Given the description of an element on the screen output the (x, y) to click on. 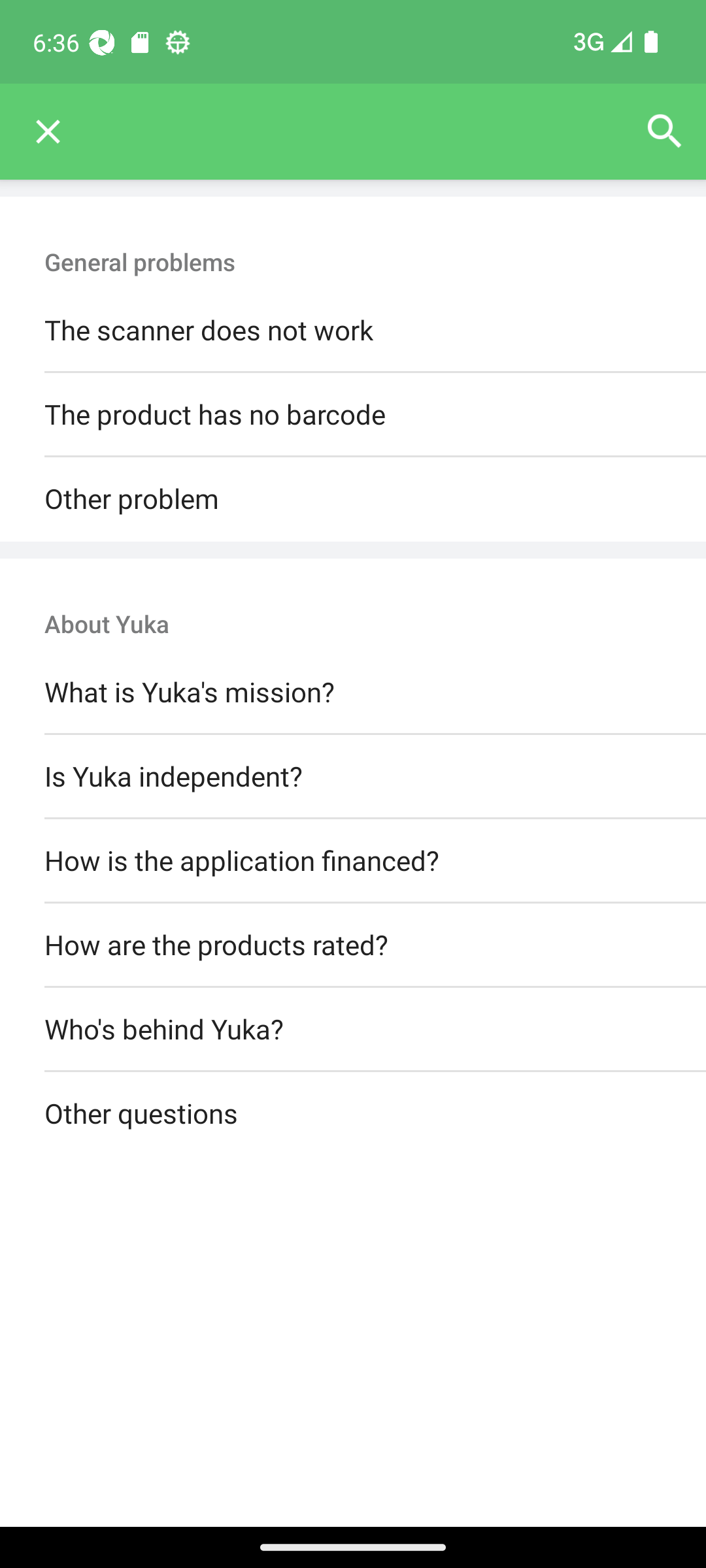
Search (664, 131)
The scanner does not work (353, 330)
The product has no barcode (353, 415)
Other problem (353, 498)
What is Yuka's mission? (353, 692)
Is Yuka independent? (353, 776)
How is the application financed? (353, 860)
How are the products rated? (353, 945)
Who's behind Yuka? (353, 1029)
Other questions (353, 1114)
